Given the description of an element on the screen output the (x, y) to click on. 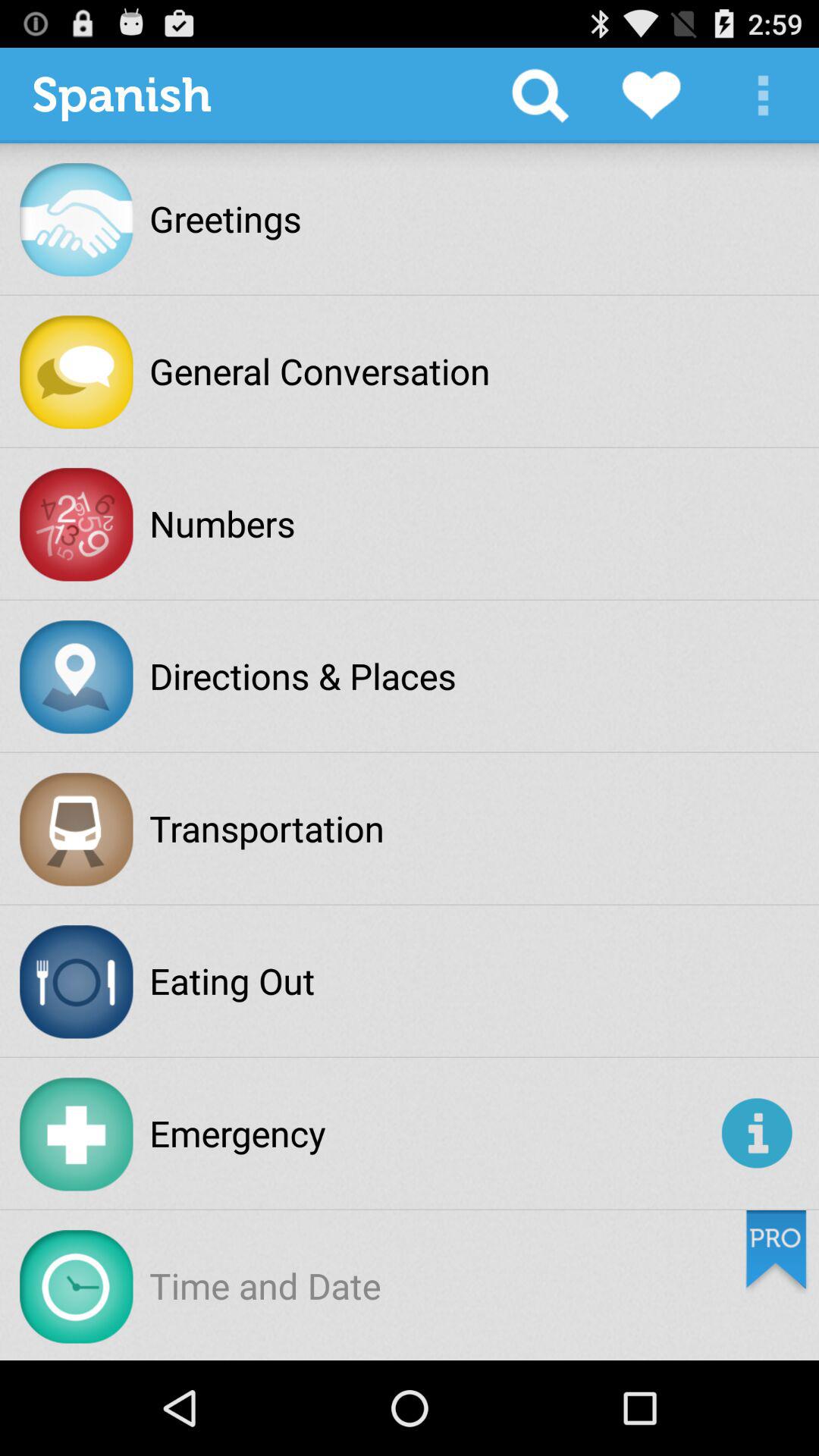
flip until the general conversation app (319, 370)
